Given the description of an element on the screen output the (x, y) to click on. 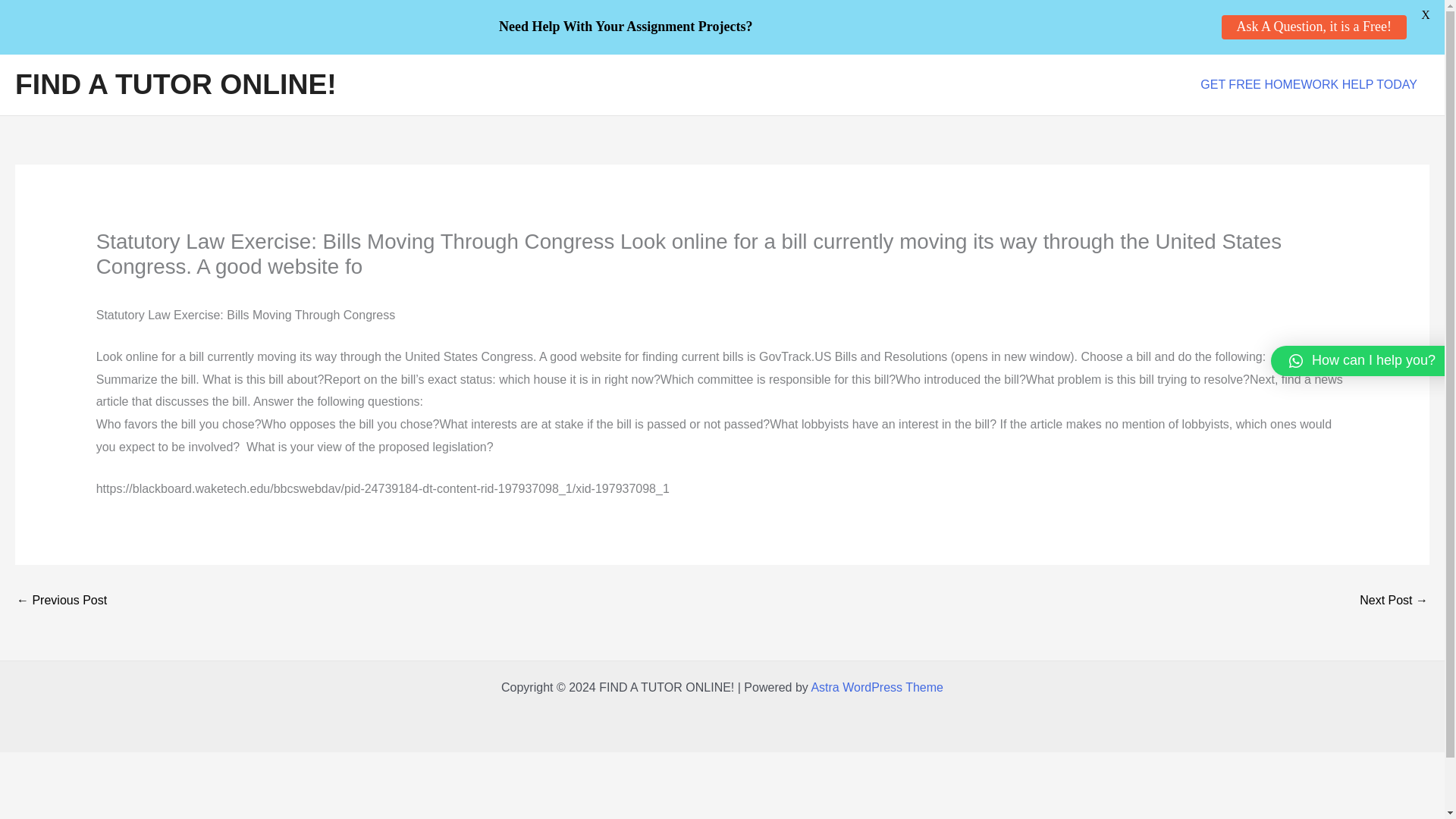
GET FREE HOMEWORK HELP TODAY (1308, 84)
Ask A Question, it is a Free! (1313, 27)
Astra WordPress Theme (876, 686)
FIND A TUTOR ONLINE! (175, 83)
